Given the description of an element on the screen output the (x, y) to click on. 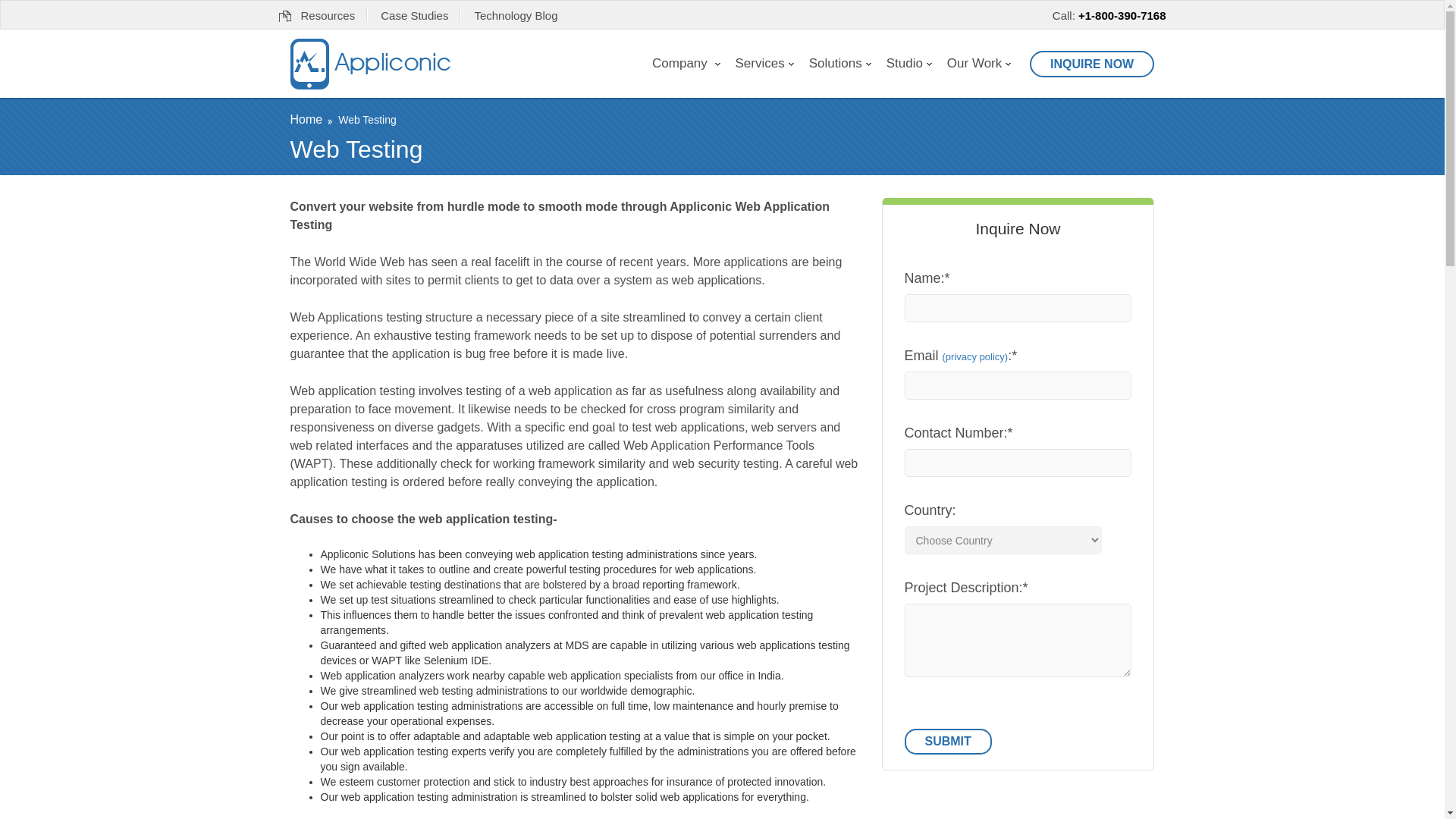
Company (685, 63)
Services (765, 63)
INQUIRE NOW (1086, 59)
Submit (947, 741)
Technology Blog (515, 15)
Case Studies (414, 15)
Resources (317, 15)
